Given the description of an element on the screen output the (x, y) to click on. 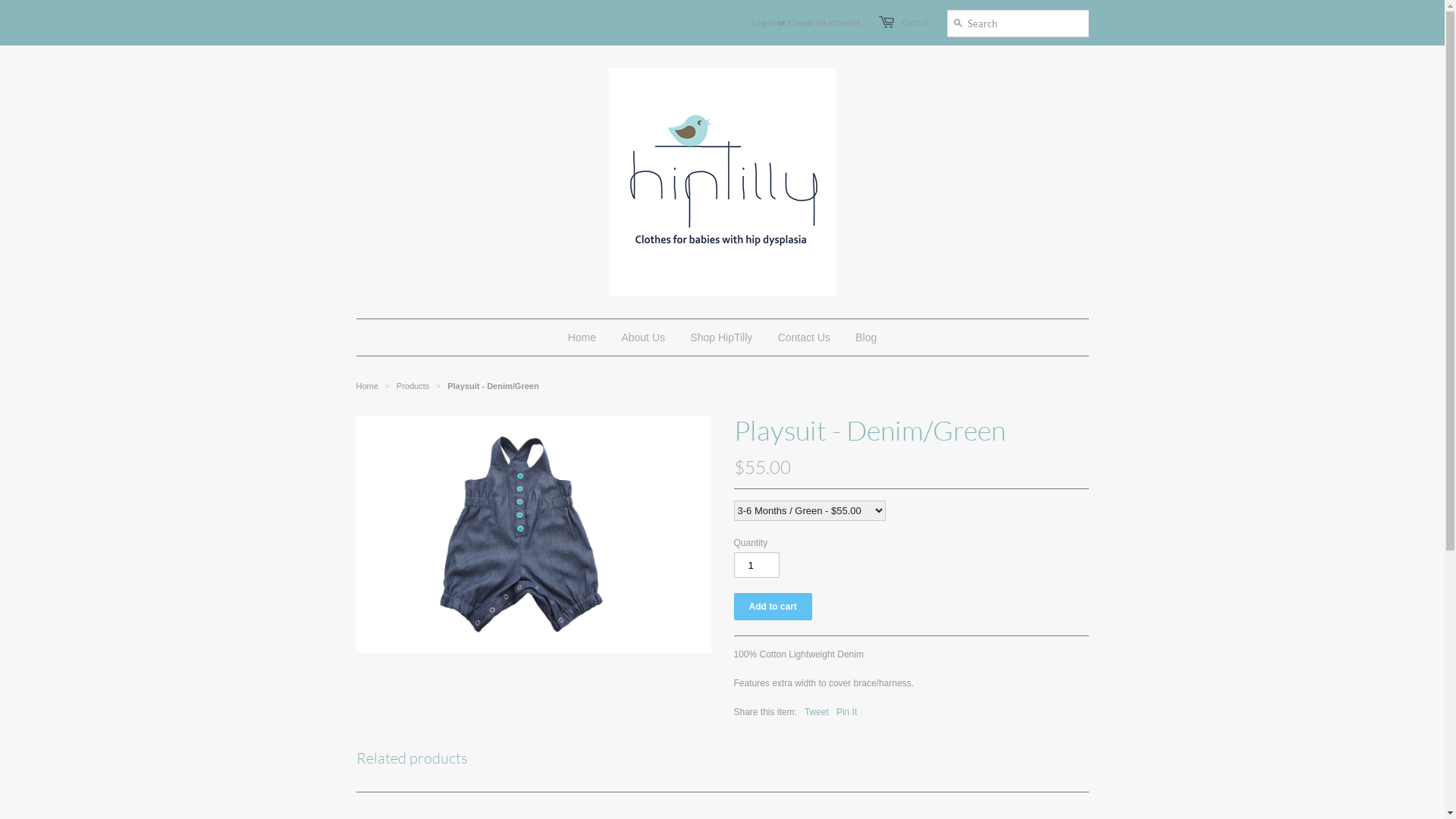
About Us Element type: text (642, 337)
Products Element type: text (412, 385)
Create an account Element type: text (823, 22)
Pin It Element type: text (846, 711)
Home Element type: text (581, 337)
Log in Element type: text (763, 22)
Add to cart Element type: text (773, 606)
Home Element type: text (367, 385)
Blog Element type: text (866, 337)
Contact Us Element type: text (803, 337)
Shop HipTilly Element type: text (720, 337)
Cart: 0 Element type: text (913, 22)
Tweet Element type: text (816, 711)
